Given the description of an element on the screen output the (x, y) to click on. 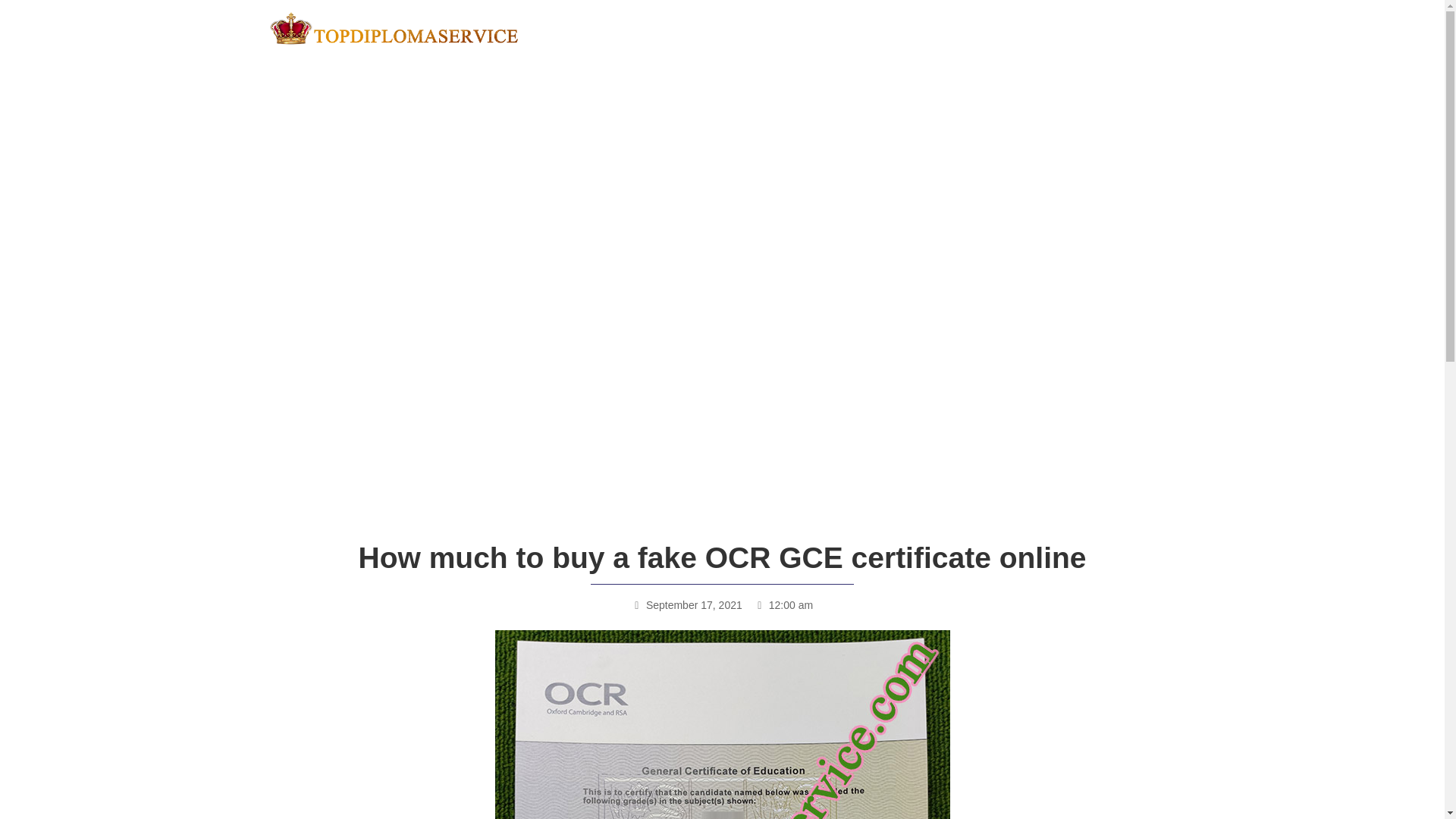
ORDER (919, 28)
BLOG (1031, 28)
September 17, 2021 (686, 605)
PRODUCTS (831, 28)
REVIEWS (742, 28)
CONTACT US (1114, 28)
HOME (672, 28)
